Given the description of an element on the screen output the (x, y) to click on. 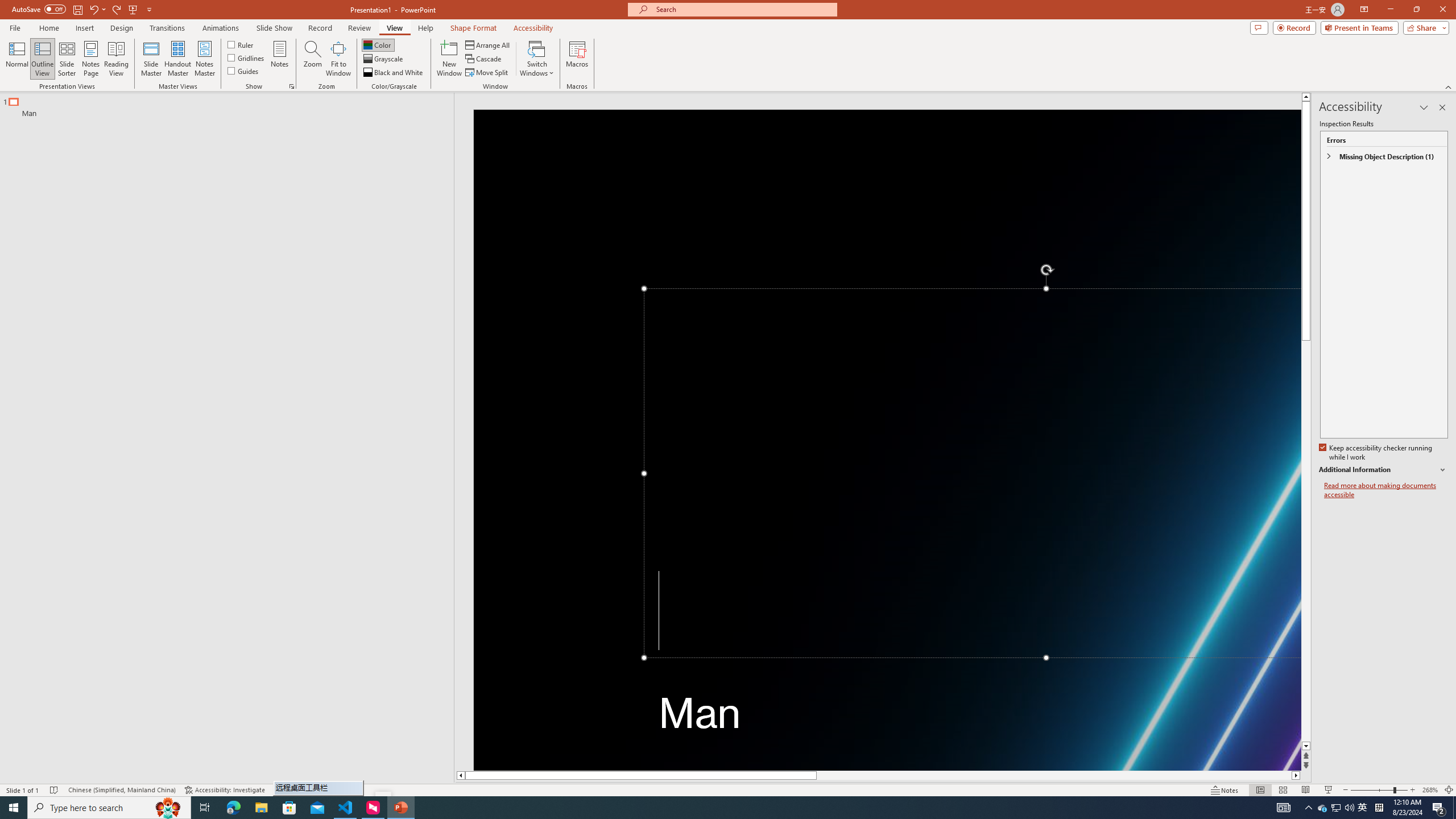
Neon laser lights aligned to form a triangle (887, 439)
Outline View (42, 58)
Cascade (484, 58)
